Given the description of an element on the screen output the (x, y) to click on. 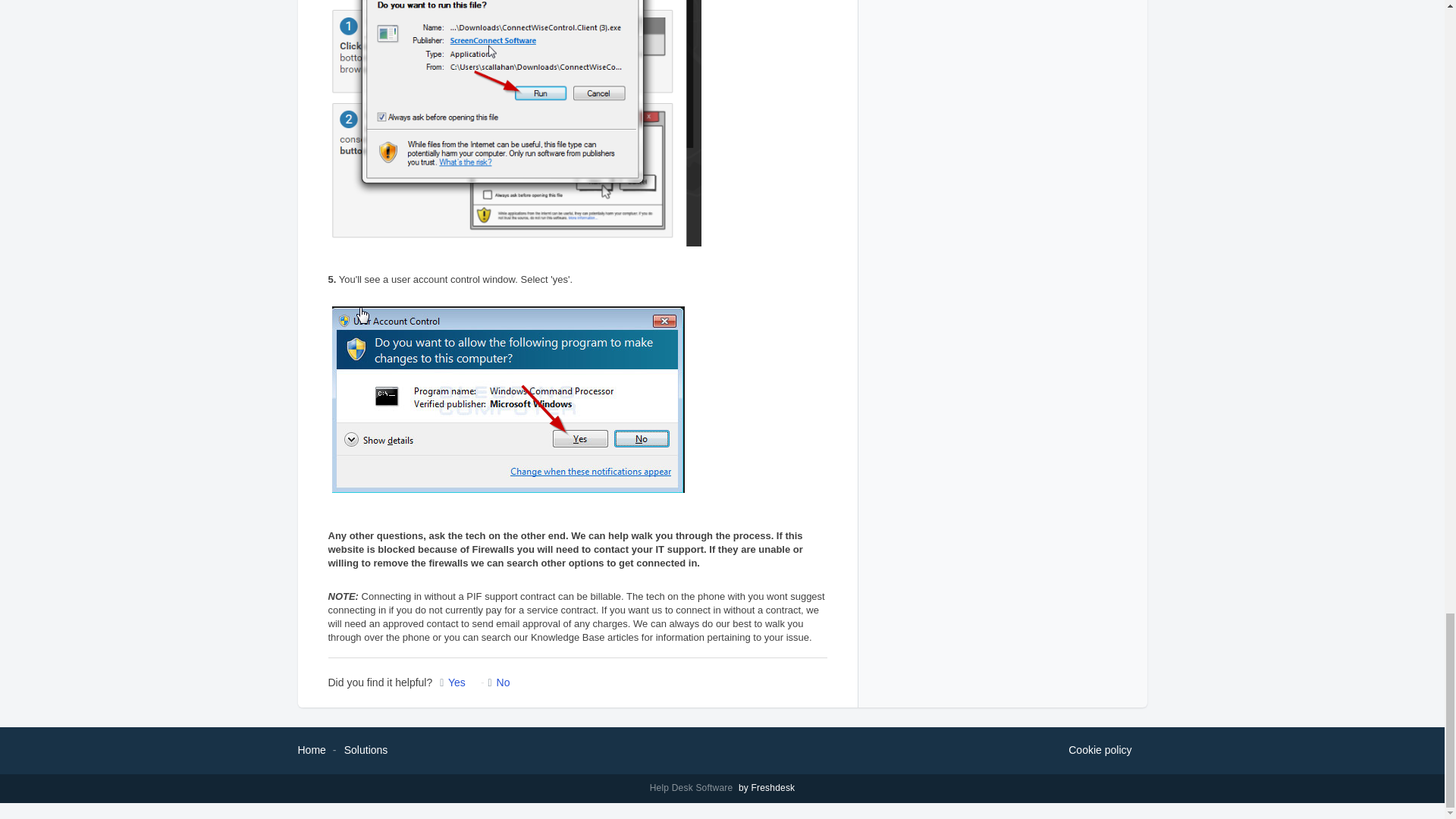
Why we love Cookies (1099, 750)
Home (310, 749)
Solutions (365, 749)
Help Desk Software (693, 787)
Cookie policy (1099, 750)
